Given the description of an element on the screen output the (x, y) to click on. 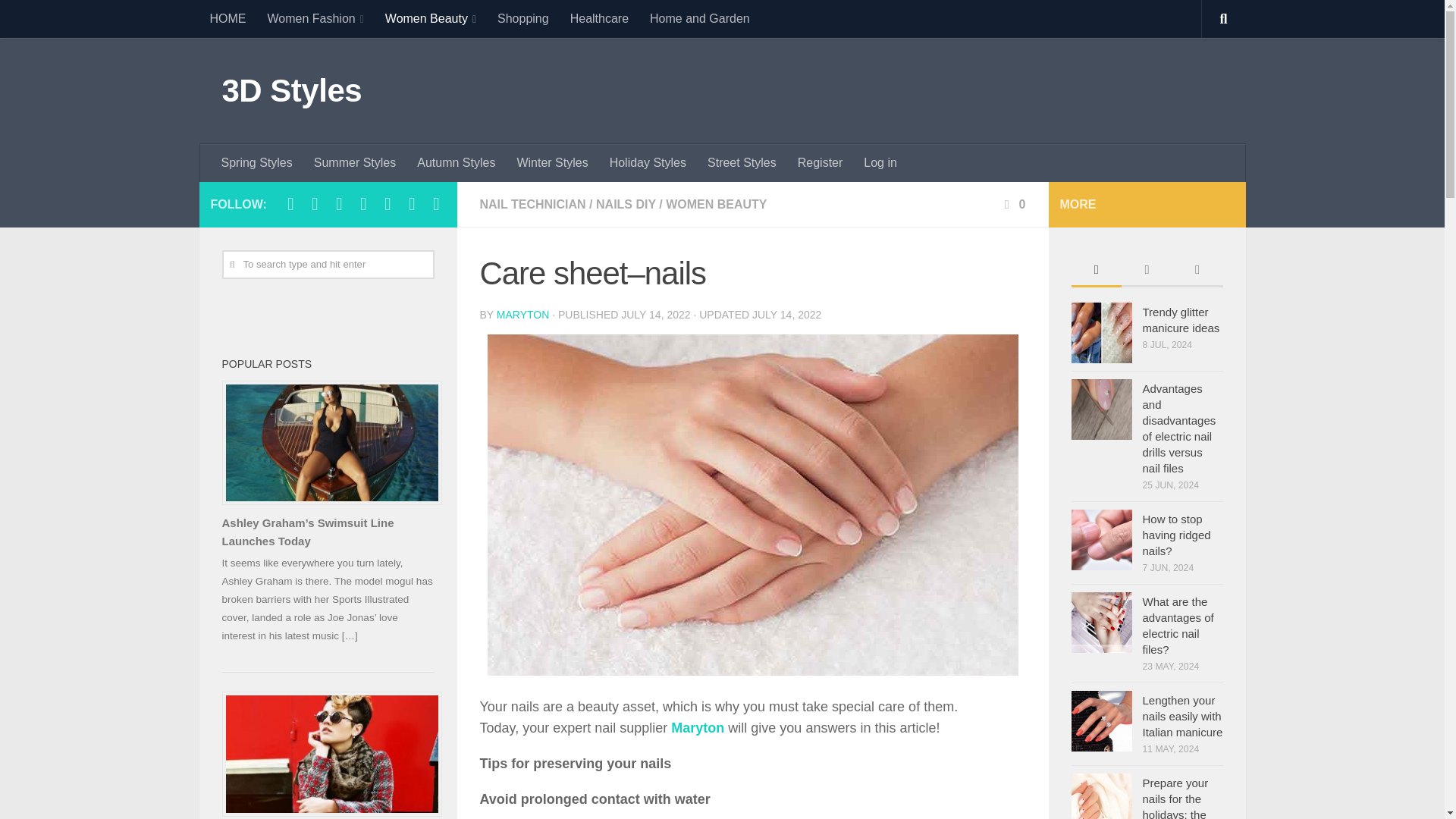
Posts by Maryton (523, 314)
HOME (227, 18)
Register (820, 162)
3D Styles (291, 90)
Winter Styles (551, 162)
Summer Styles (354, 162)
Women Beauty (430, 18)
0 (1013, 204)
Women Fashion (315, 18)
Home and Garden (699, 18)
Spring Styles (256, 162)
Autumn Styles (455, 162)
MARYTON (523, 314)
Log in (880, 162)
Maryton (697, 727)
